Given the description of an element on the screen output the (x, y) to click on. 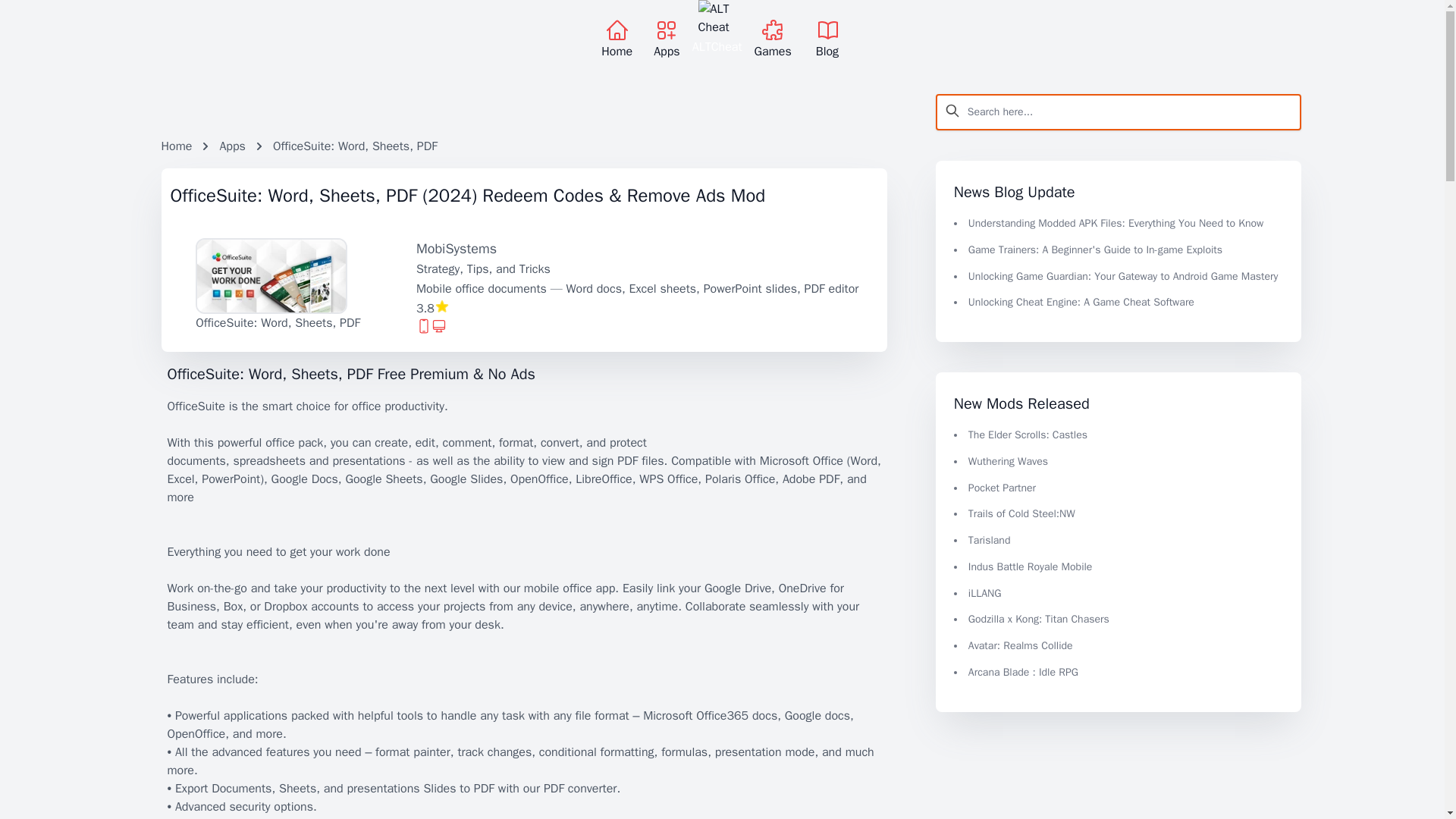
Apps (232, 146)
Trails of Cold Steel:NW (1021, 513)
Wuthering Waves (1008, 461)
Games (772, 39)
Pocket Partner (1001, 486)
Game Trainers: A Beginner's Guide to In-game Exploits (1095, 249)
Arcana Blade : Idle RPG (1023, 671)
Home (176, 146)
iLLANG (984, 593)
Unlocking Cheat Engine: A Game Cheat Software (1080, 301)
Avatar: Realms Collide (1020, 645)
Tarisland (989, 540)
The Elder Scrolls: Castles (1027, 434)
Godzilla x Kong: Titan Chasers (1038, 618)
